Given the description of an element on the screen output the (x, y) to click on. 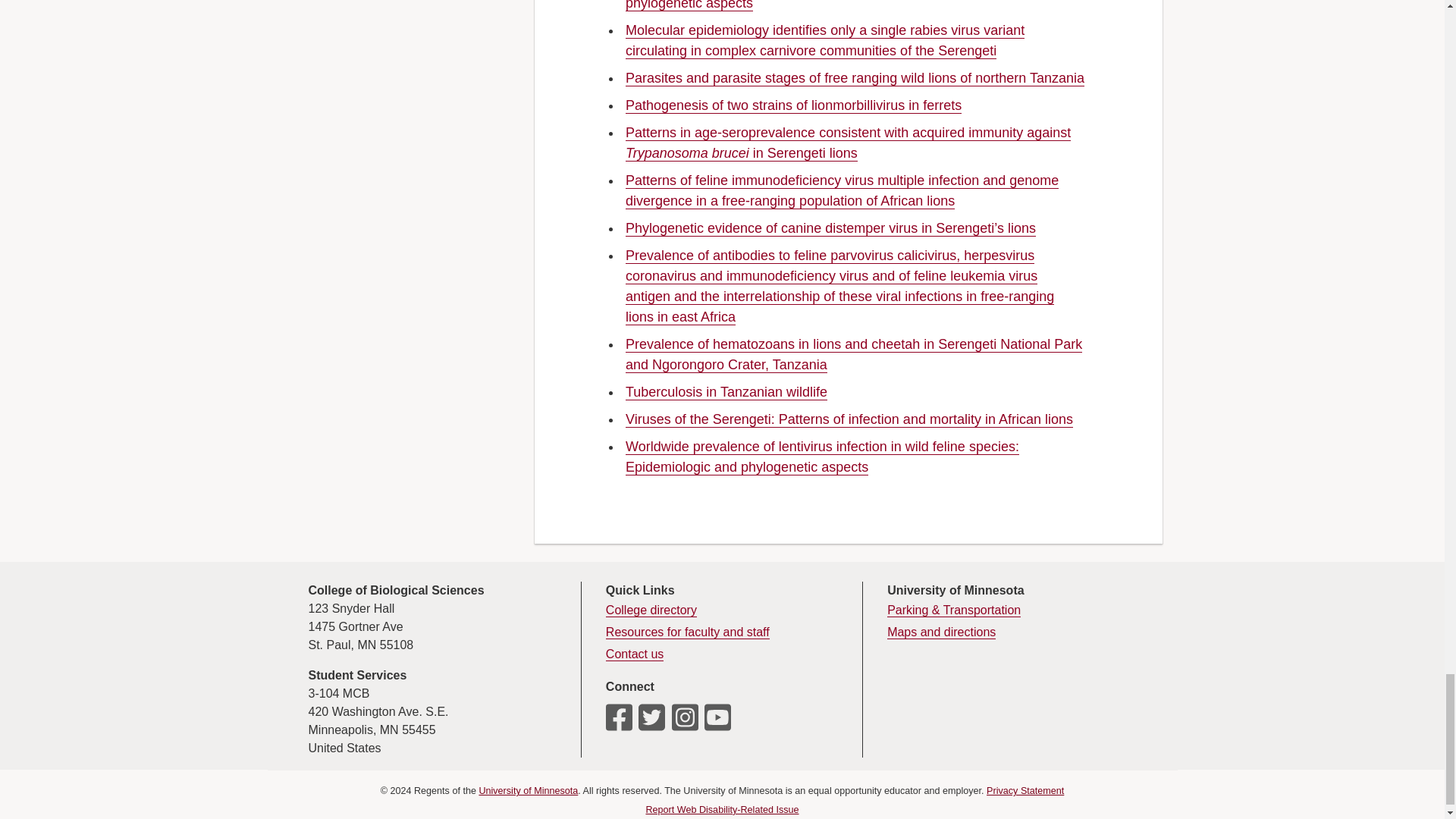
UMN CBS Facebook (618, 723)
UMN CBS Instagram (684, 723)
UMN CBS Youtube (717, 723)
UMN CBS Twitter (652, 723)
